Given the description of an element on the screen output the (x, y) to click on. 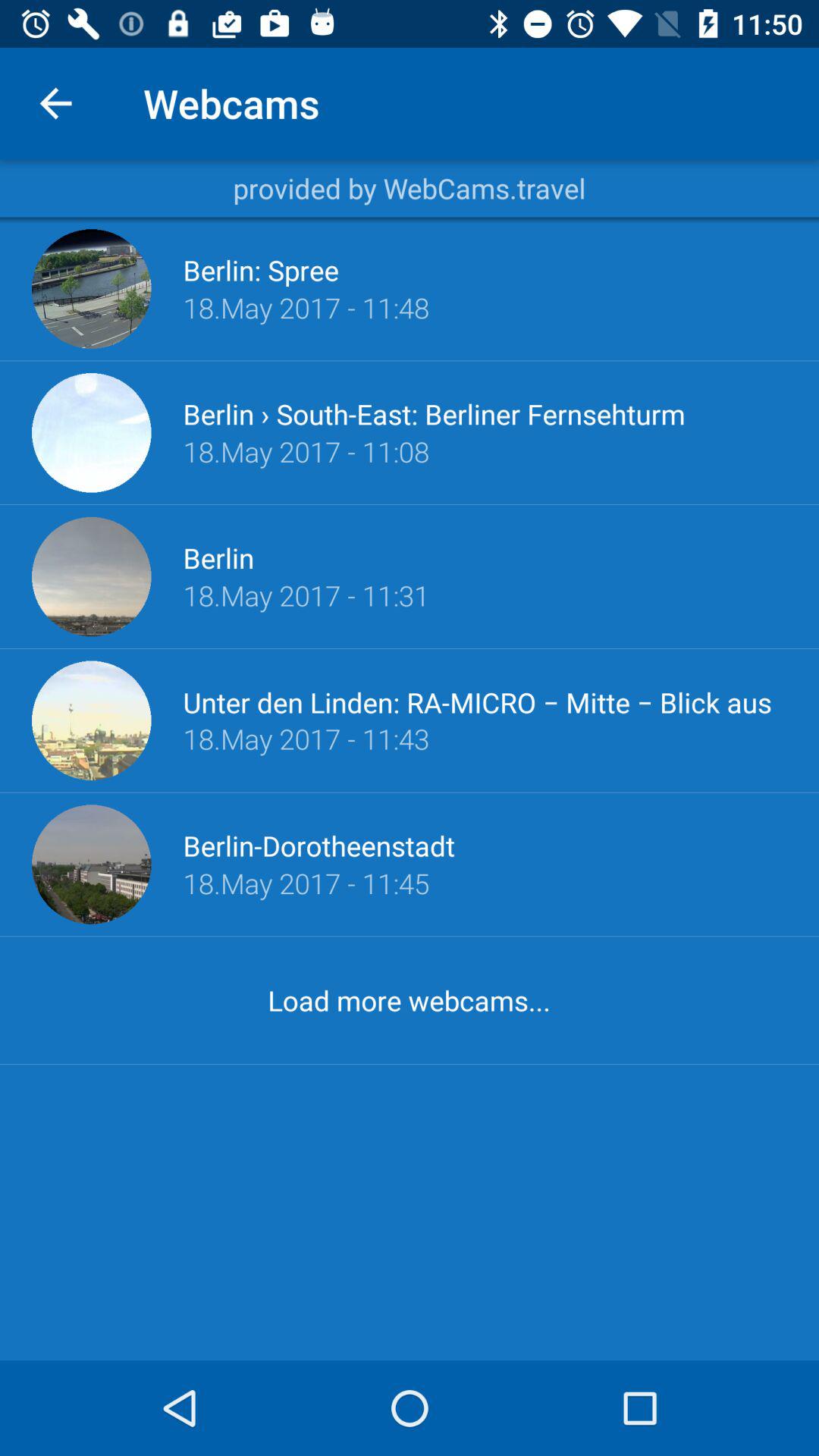
swipe until berlin-dorotheenstadt item (319, 845)
